Given the description of an element on the screen output the (x, y) to click on. 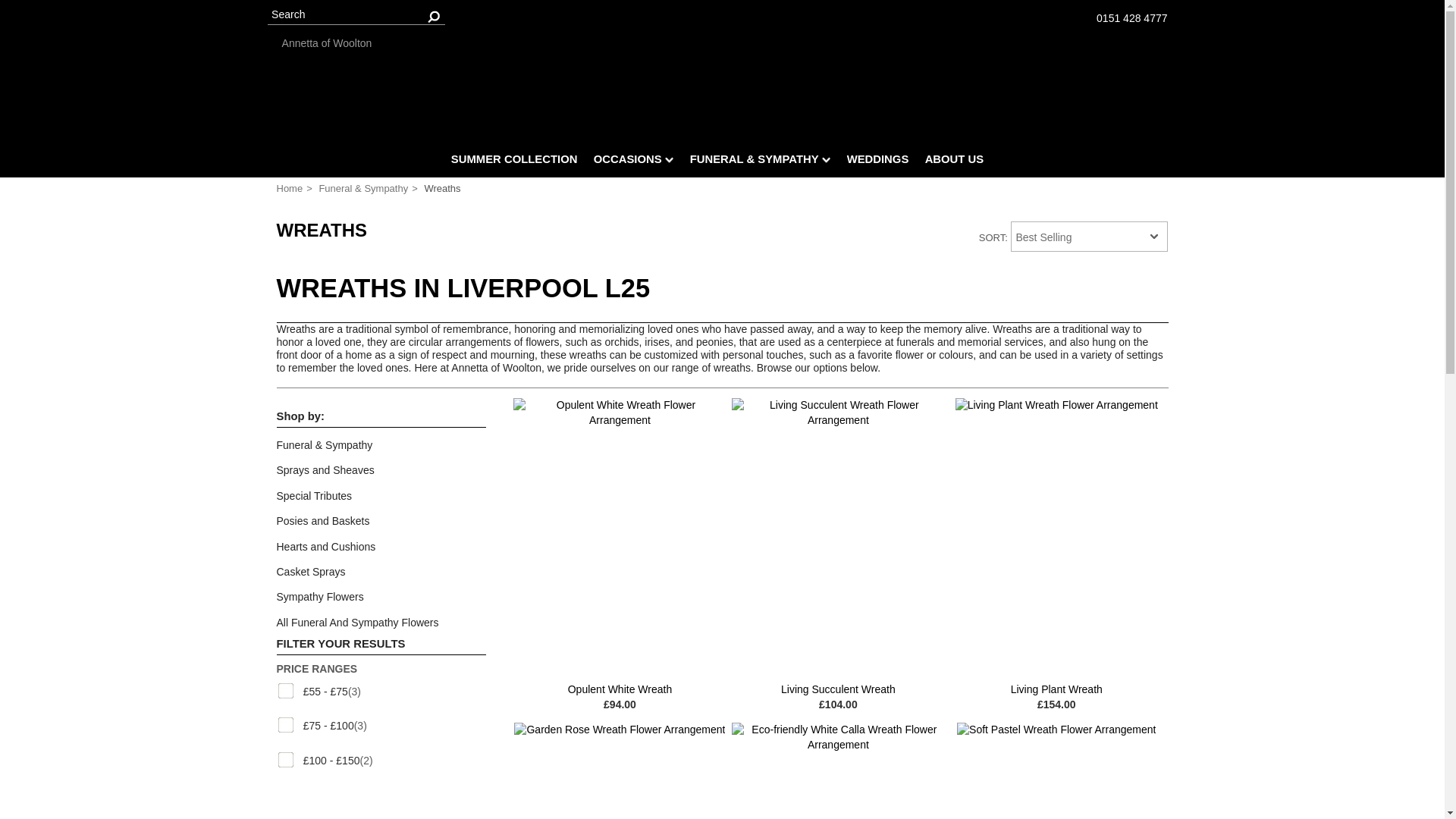
SUMMER COLLECTION (513, 161)
Search (355, 14)
Go (434, 15)
0151 428 4777 (1131, 18)
WEDDINGS (877, 161)
Sort By (1088, 236)
Annetta of Woolton (722, 43)
OCCASIONS (633, 161)
